Given the description of an element on the screen output the (x, y) to click on. 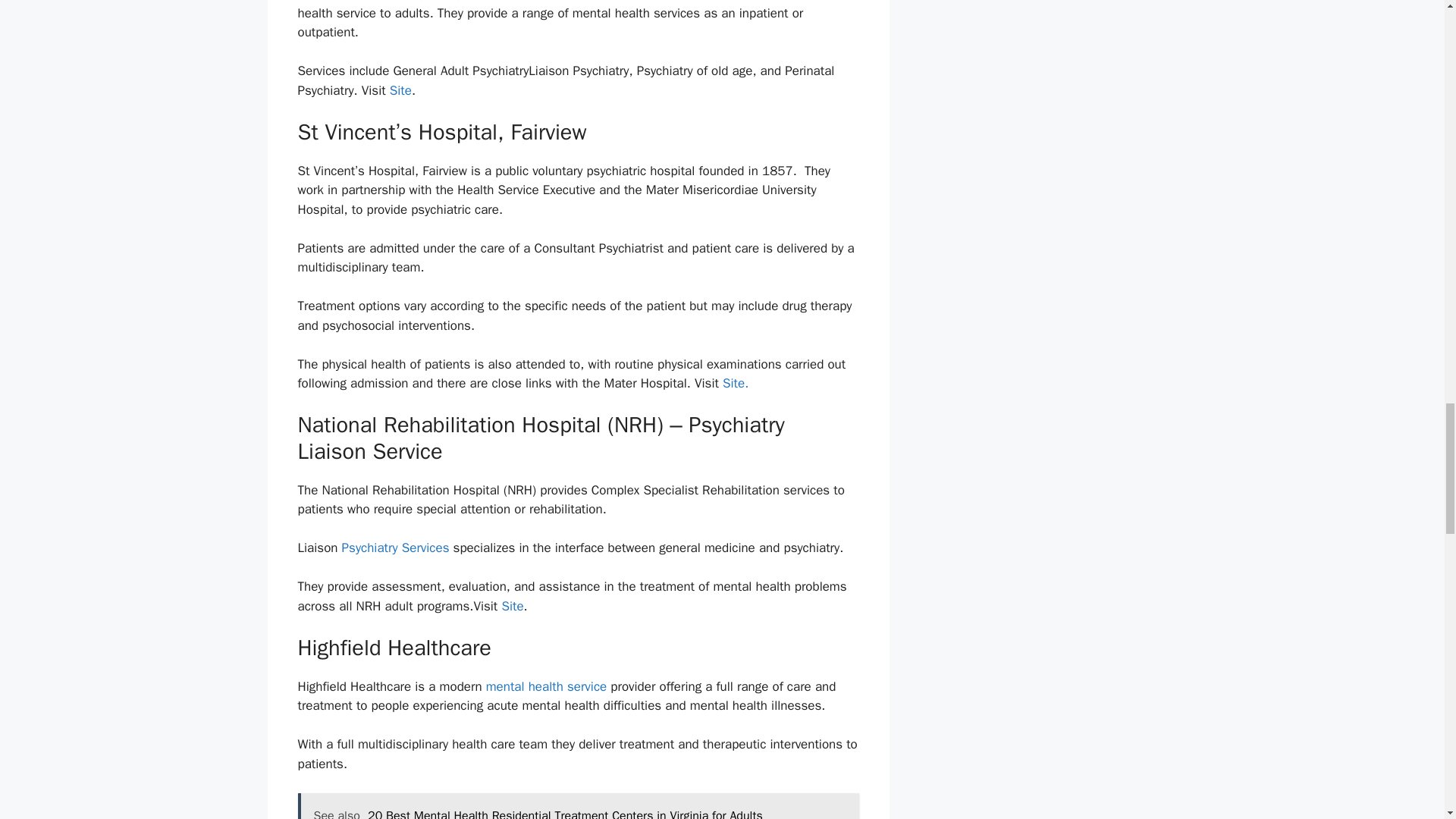
mental health service (546, 686)
Site (511, 606)
Psychiatry Services (397, 547)
Site (401, 90)
Site. (737, 383)
